Given the description of an element on the screen output the (x, y) to click on. 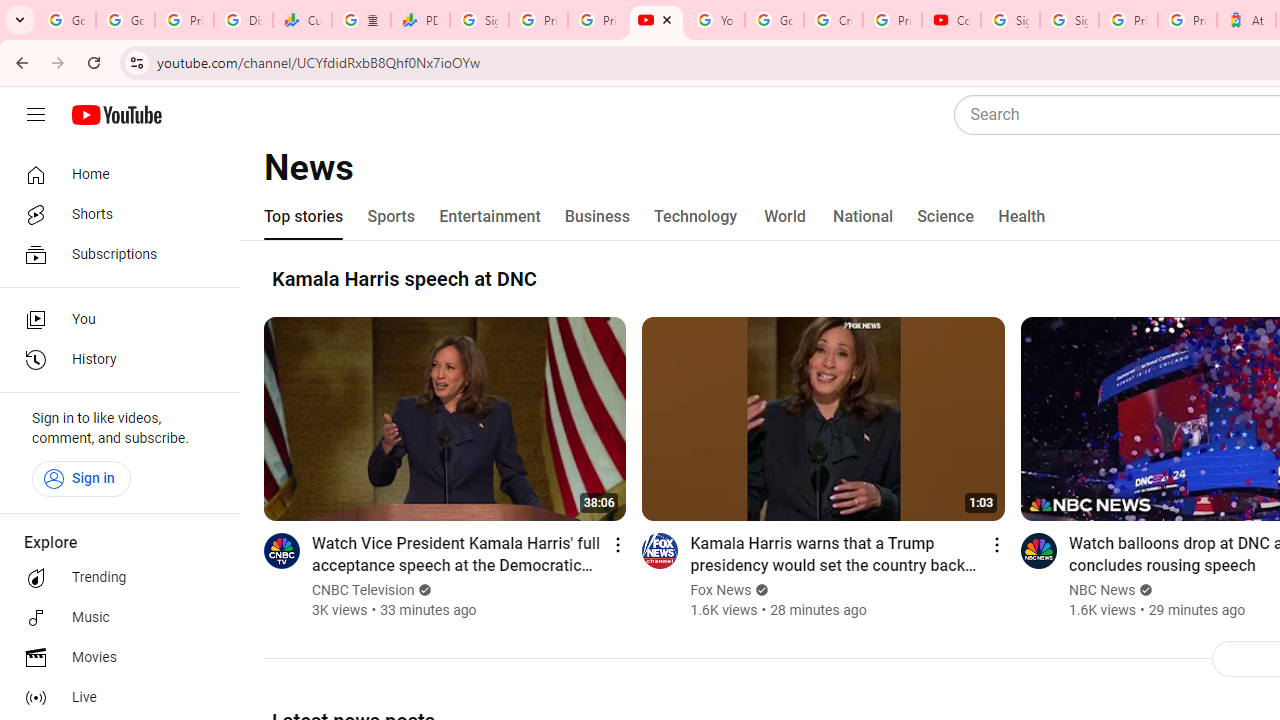
Technology (696, 216)
Sign in - Google Accounts (479, 20)
Science (945, 216)
Fox News (720, 590)
Sign in - Google Accounts (1010, 20)
PDD Holdings Inc - ADR (PDD) Price & News - Google Finance (420, 20)
Guide (35, 115)
Music (113, 617)
History (113, 359)
